Given the description of an element on the screen output the (x, y) to click on. 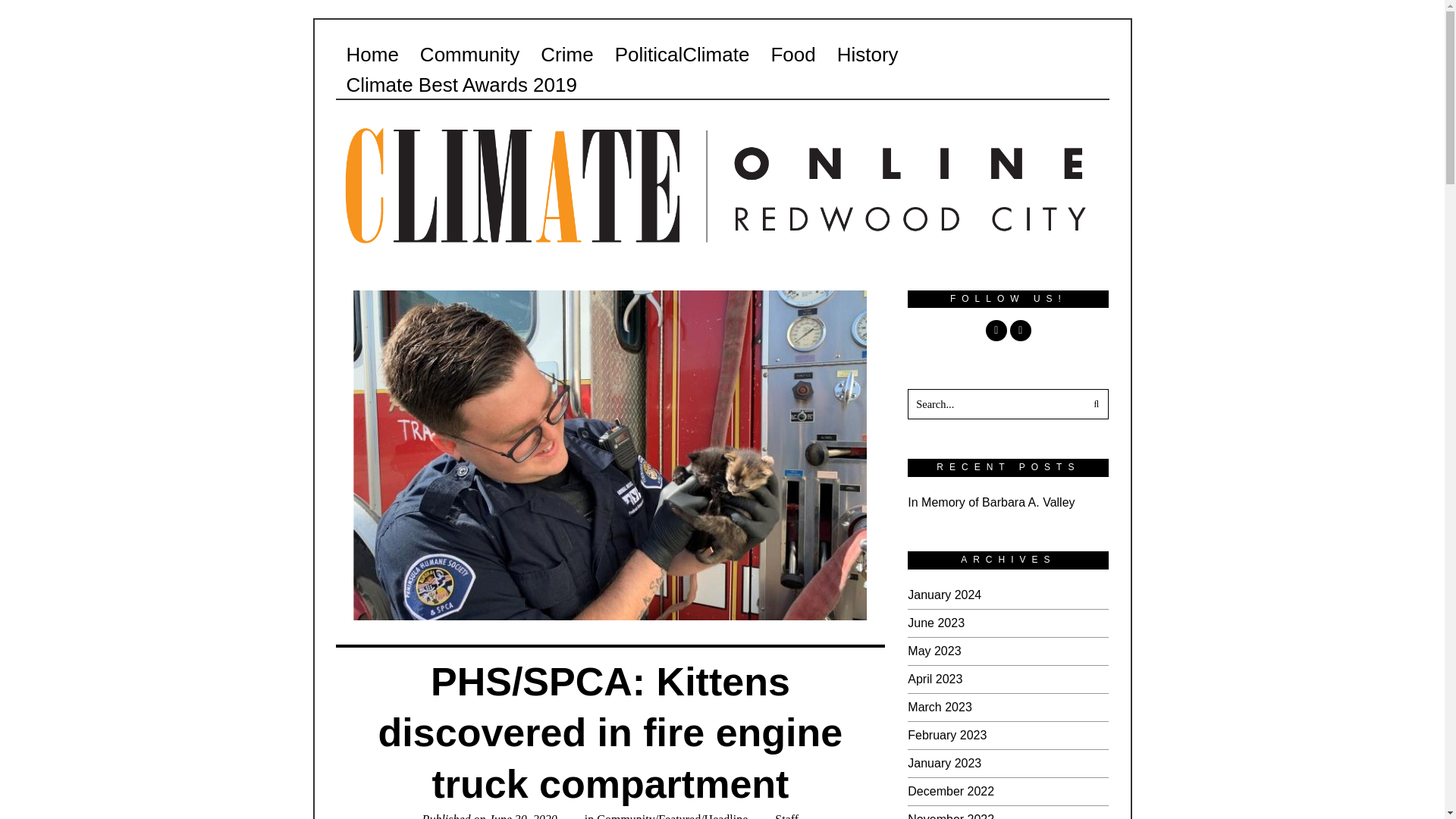
Home (371, 54)
Staff (785, 816)
Community (469, 54)
December 2022 (950, 790)
Climate Best Awards 2019 (460, 84)
Headline (726, 816)
January 2024 (944, 594)
History (867, 54)
April 2023 (934, 678)
Twitter (1020, 330)
PoliticalClimate (682, 54)
June 2023 (935, 622)
January 2023 (944, 762)
Facebook (996, 330)
February 2023 (947, 735)
